Given the description of an element on the screen output the (x, y) to click on. 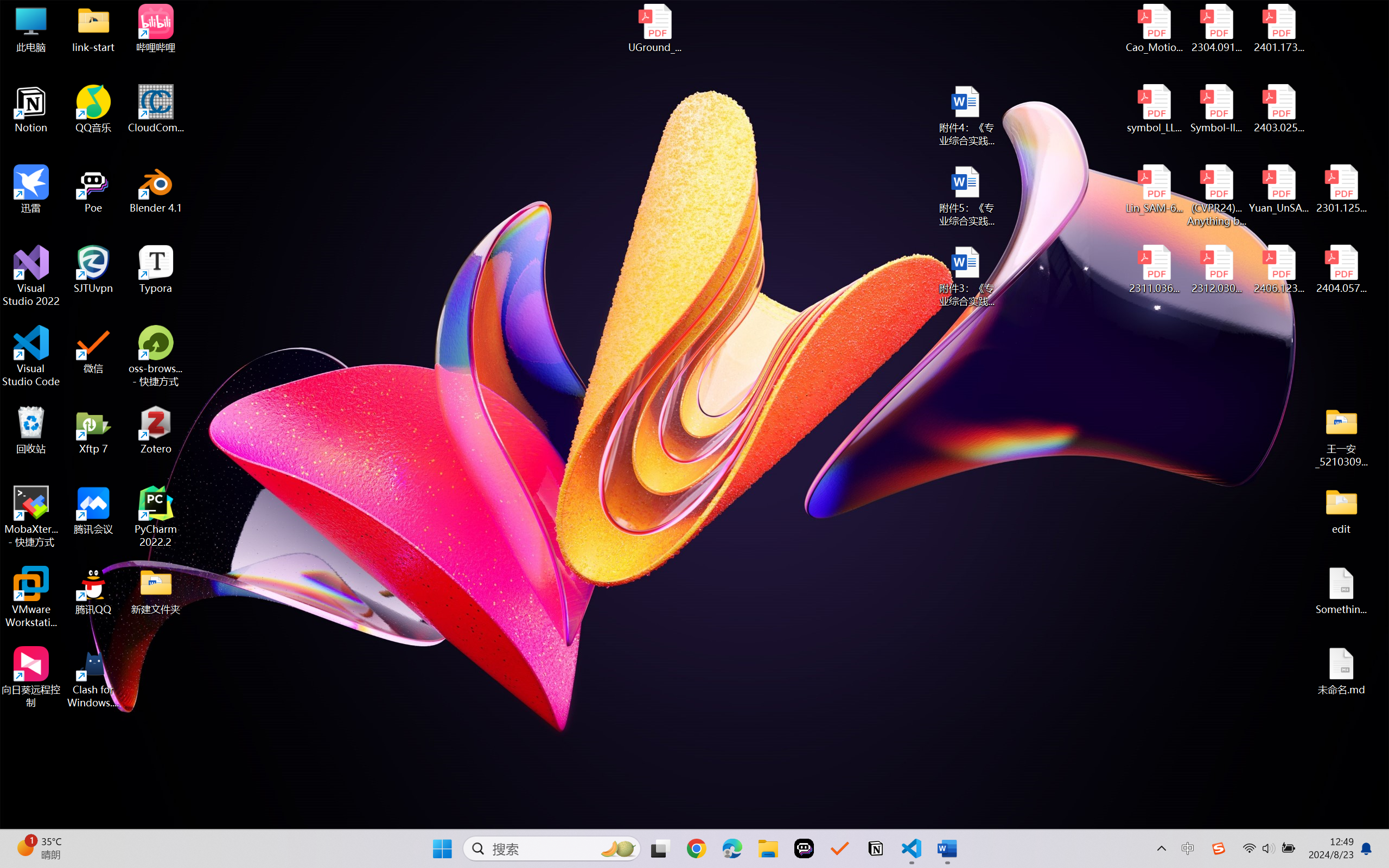
Visual Studio Code (31, 355)
Microsoft Edge (731, 848)
2312.03032v2.pdf (1216, 269)
Typora (156, 269)
